Given the description of an element on the screen output the (x, y) to click on. 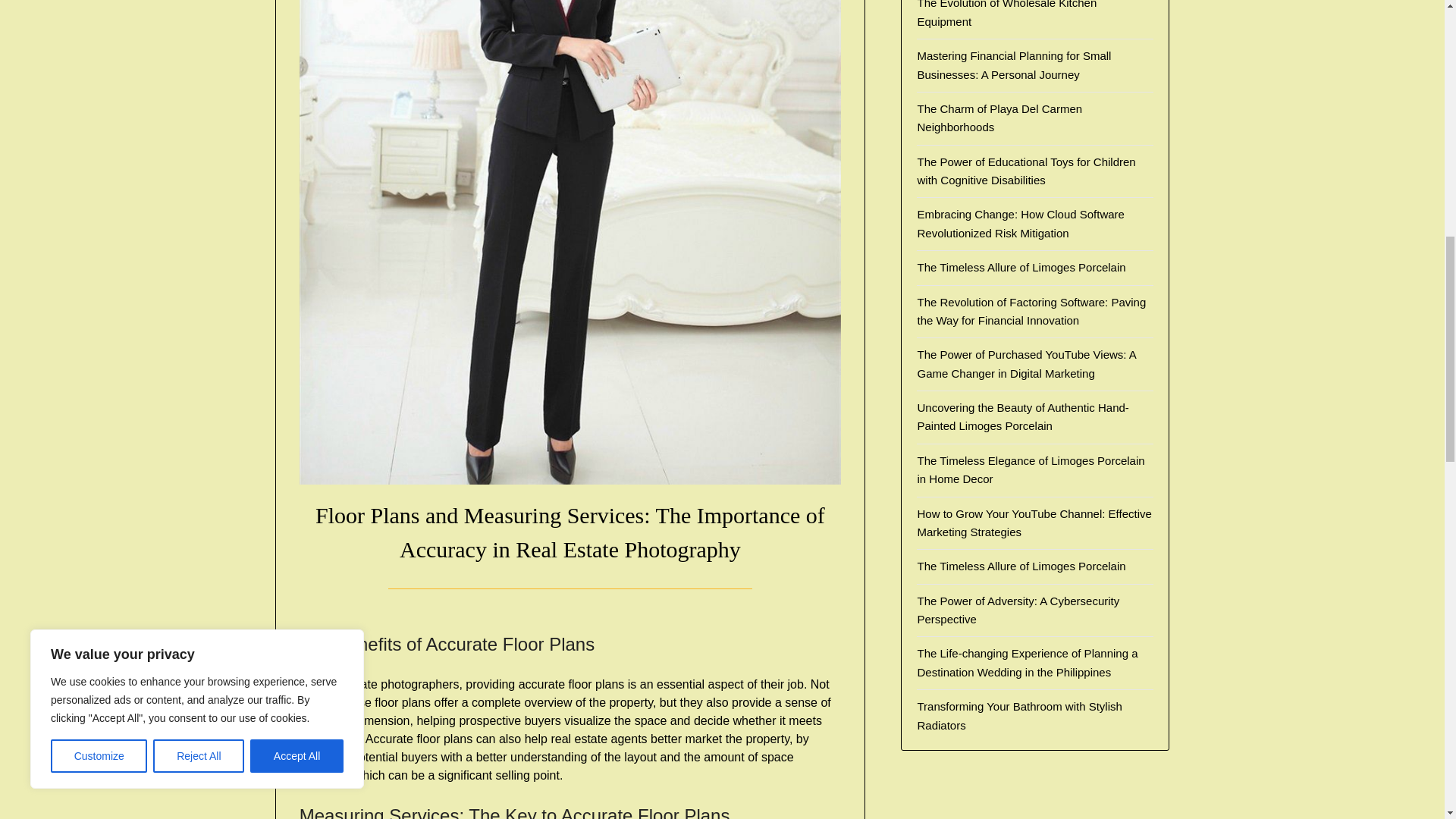
The Evolution of Wholesale Kitchen Equipment (1006, 13)
The Charm of Playa Del Carmen Neighborhoods (999, 117)
The Timeless Allure of Limoges Porcelain (1021, 267)
